Given the description of an element on the screen output the (x, y) to click on. 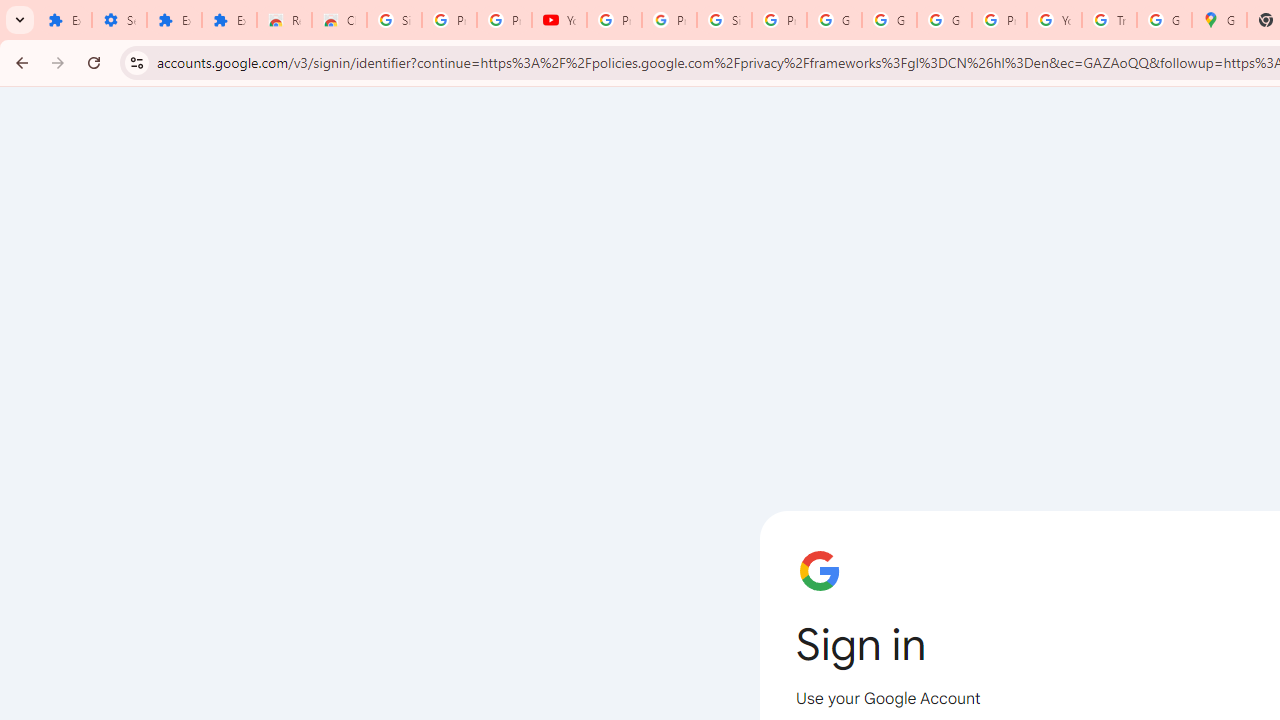
Google Account (833, 20)
Chrome Web Store - Themes (339, 20)
Settings (119, 20)
YouTube (1053, 20)
Sign in - Google Accounts (394, 20)
Extensions (64, 20)
Extensions (174, 20)
Extensions (229, 20)
YouTube (559, 20)
